Given the description of an element on the screen output the (x, y) to click on. 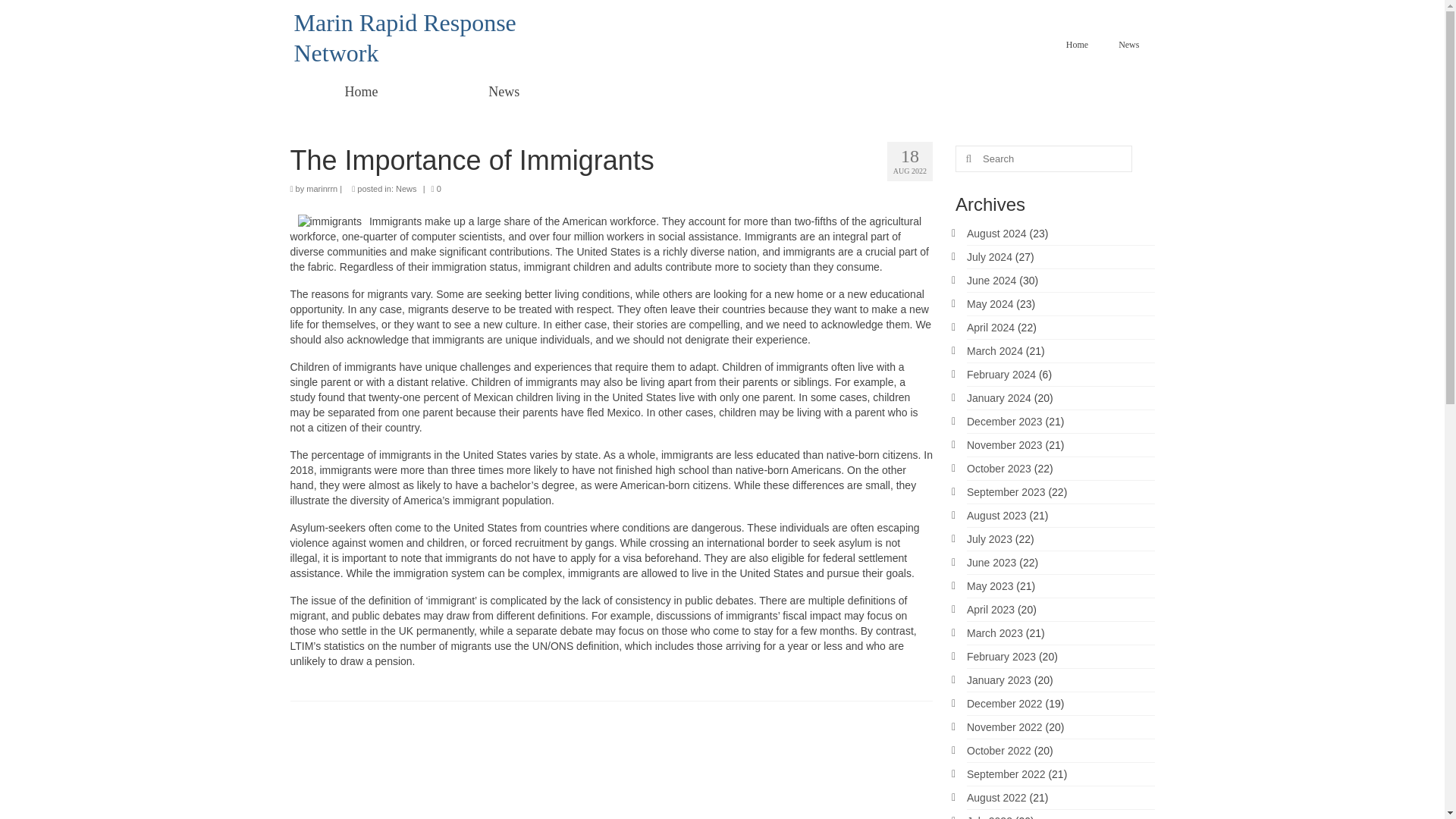
September 2023 (1005, 491)
October 2022 (998, 750)
April 2023 (990, 609)
May 2024 (989, 304)
November 2022 (1004, 727)
April 2024 (990, 327)
June 2023 (991, 562)
August 2023 (996, 515)
Home (1077, 44)
March 2023 (994, 633)
